Given the description of an element on the screen output the (x, y) to click on. 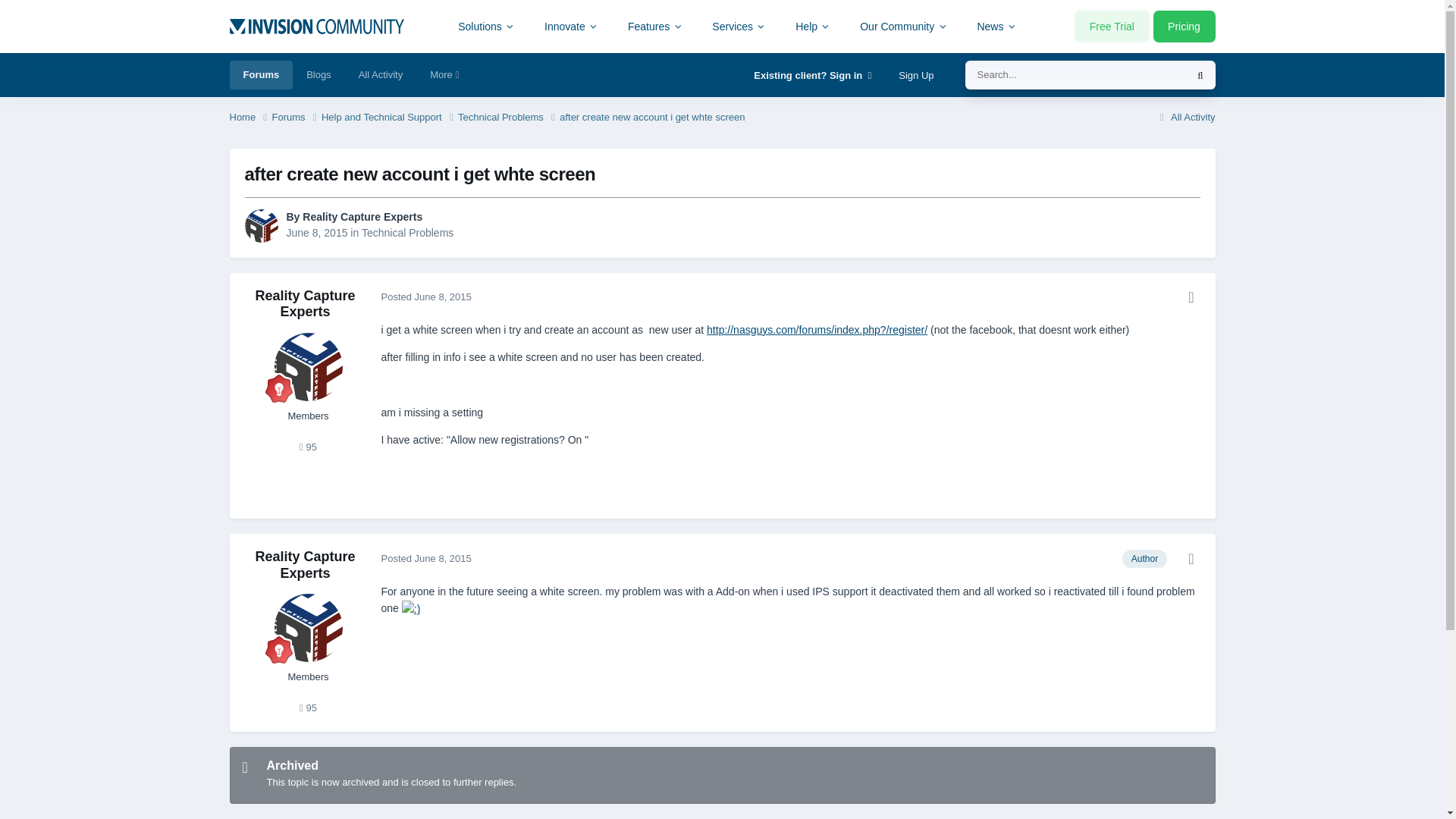
Home (249, 117)
Innovate (570, 26)
Services (738, 26)
Features (654, 26)
Help (812, 26)
Solutions (486, 26)
